Given the description of an element on the screen output the (x, y) to click on. 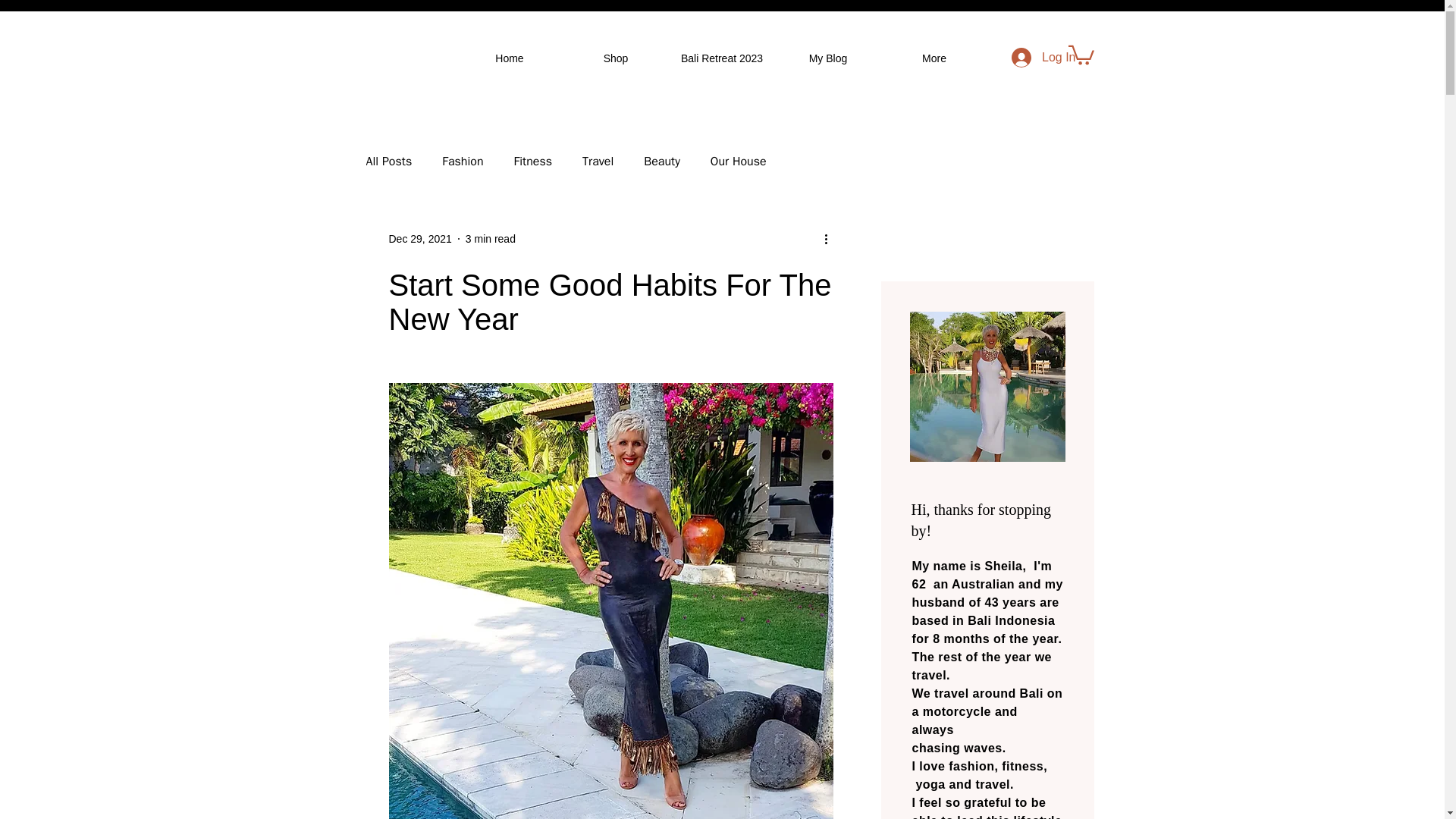
Fashion (462, 160)
My Blog (827, 57)
All Posts (388, 160)
Dec 29, 2021 (419, 237)
Travel (597, 160)
Bali Retreat 2023 (721, 57)
Home (509, 57)
Our House (738, 160)
3 min read (490, 237)
Log In (1043, 57)
